Given the description of an element on the screen output the (x, y) to click on. 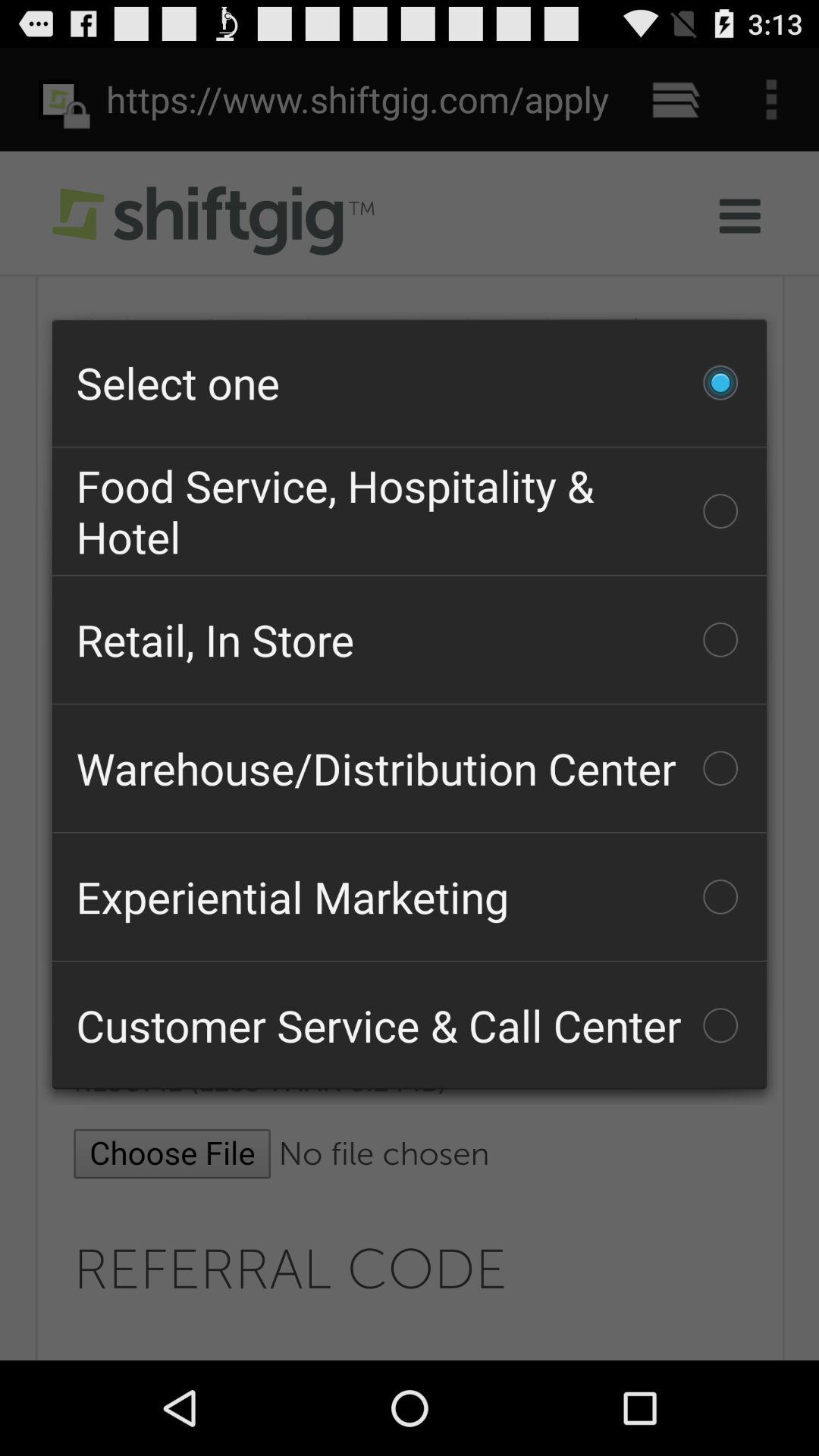
turn off select one icon (409, 382)
